Given the description of an element on the screen output the (x, y) to click on. 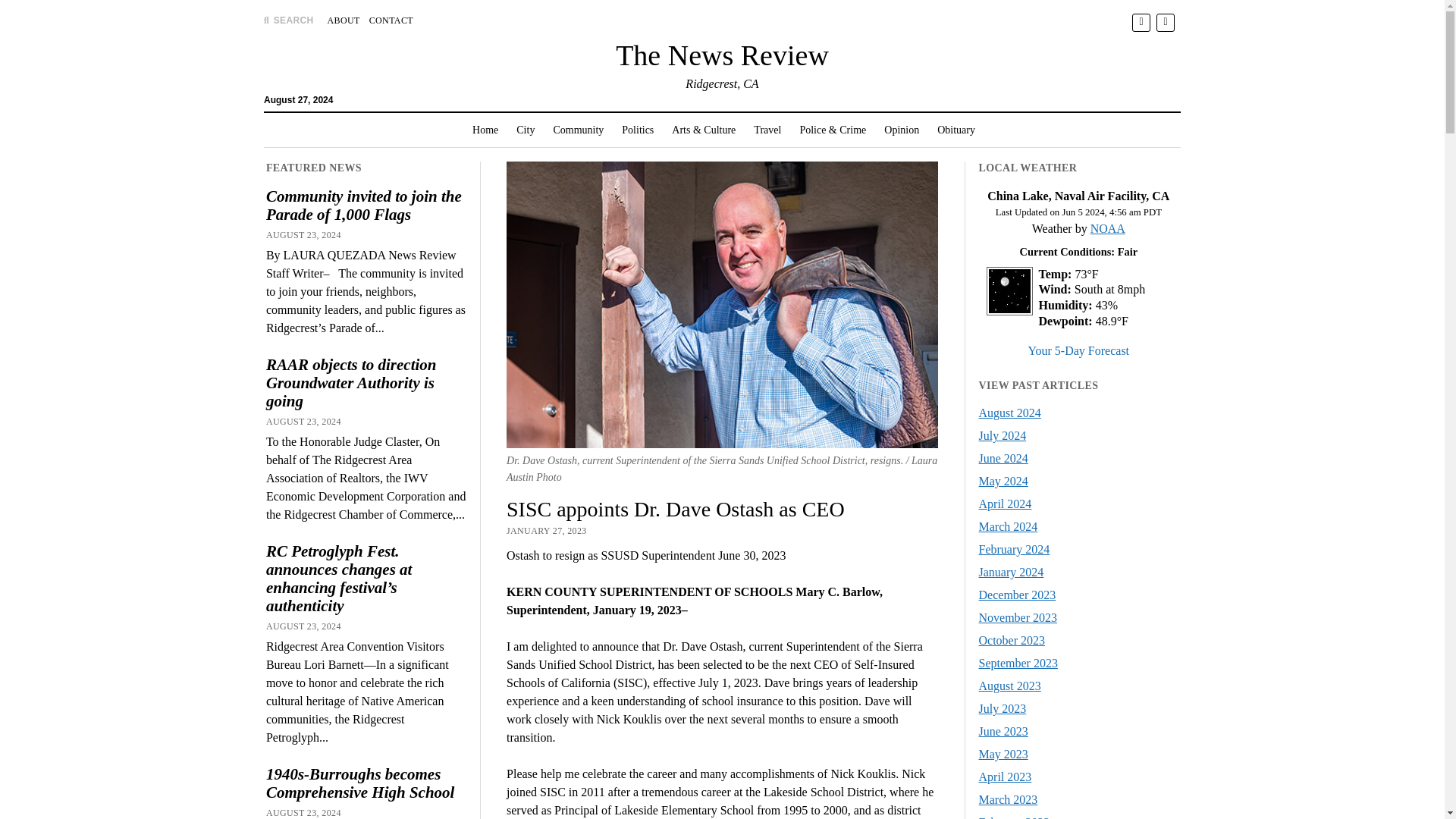
Community invited to join the Parade of 1,000 Flags (365, 205)
ABOUT (343, 20)
NOAA (1107, 228)
City (524, 130)
Click for your 5-day forecast. (1078, 350)
Click for your 5-day forecast. (1005, 310)
CONTACT (391, 20)
Politics (637, 130)
The News Review (721, 55)
Search (945, 129)
